Given the description of an element on the screen output the (x, y) to click on. 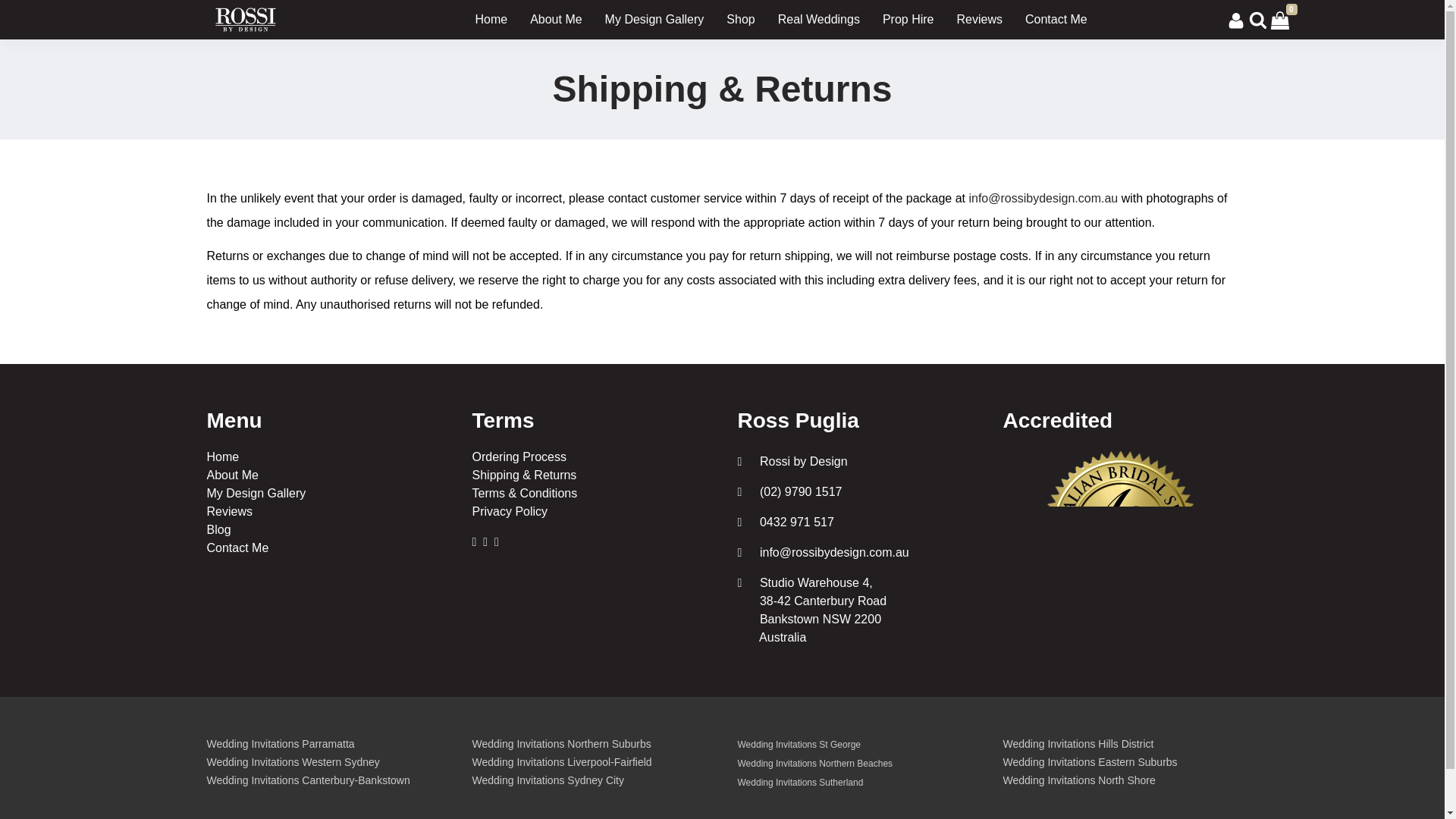
Home (222, 456)
Real Weddings (818, 19)
Reviews (228, 511)
Ordering Process (518, 456)
About Me (555, 19)
0 (1280, 19)
Prop Hire (908, 19)
